Given the description of an element on the screen output the (x, y) to click on. 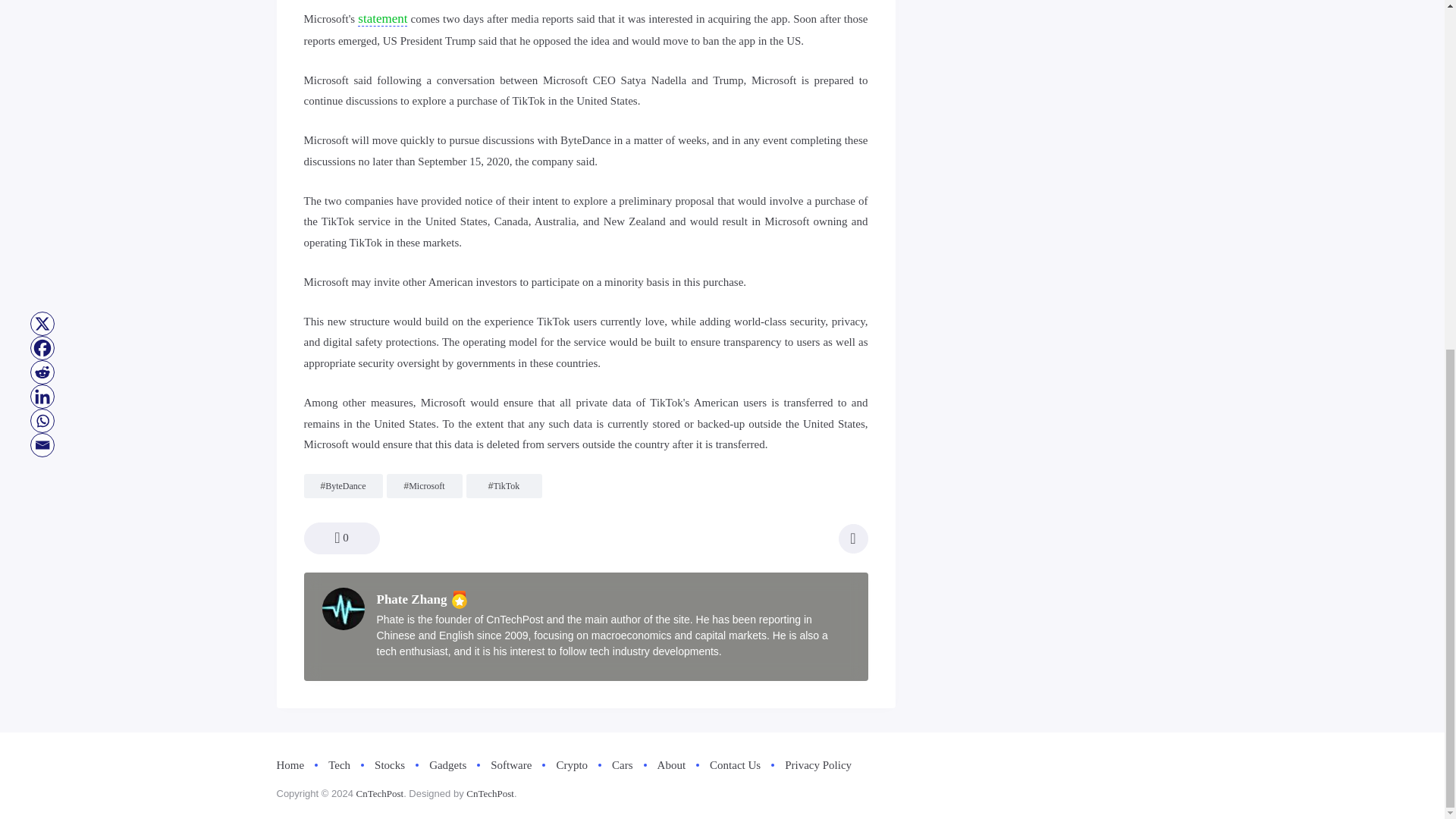
Phate Zhang (410, 599)
CnTechPost (489, 793)
0 (340, 538)
statement (382, 18)
CnTechPost (379, 793)
TikTok (506, 485)
Microsoft (426, 485)
ByteDance (344, 485)
